Given the description of an element on the screen output the (x, y) to click on. 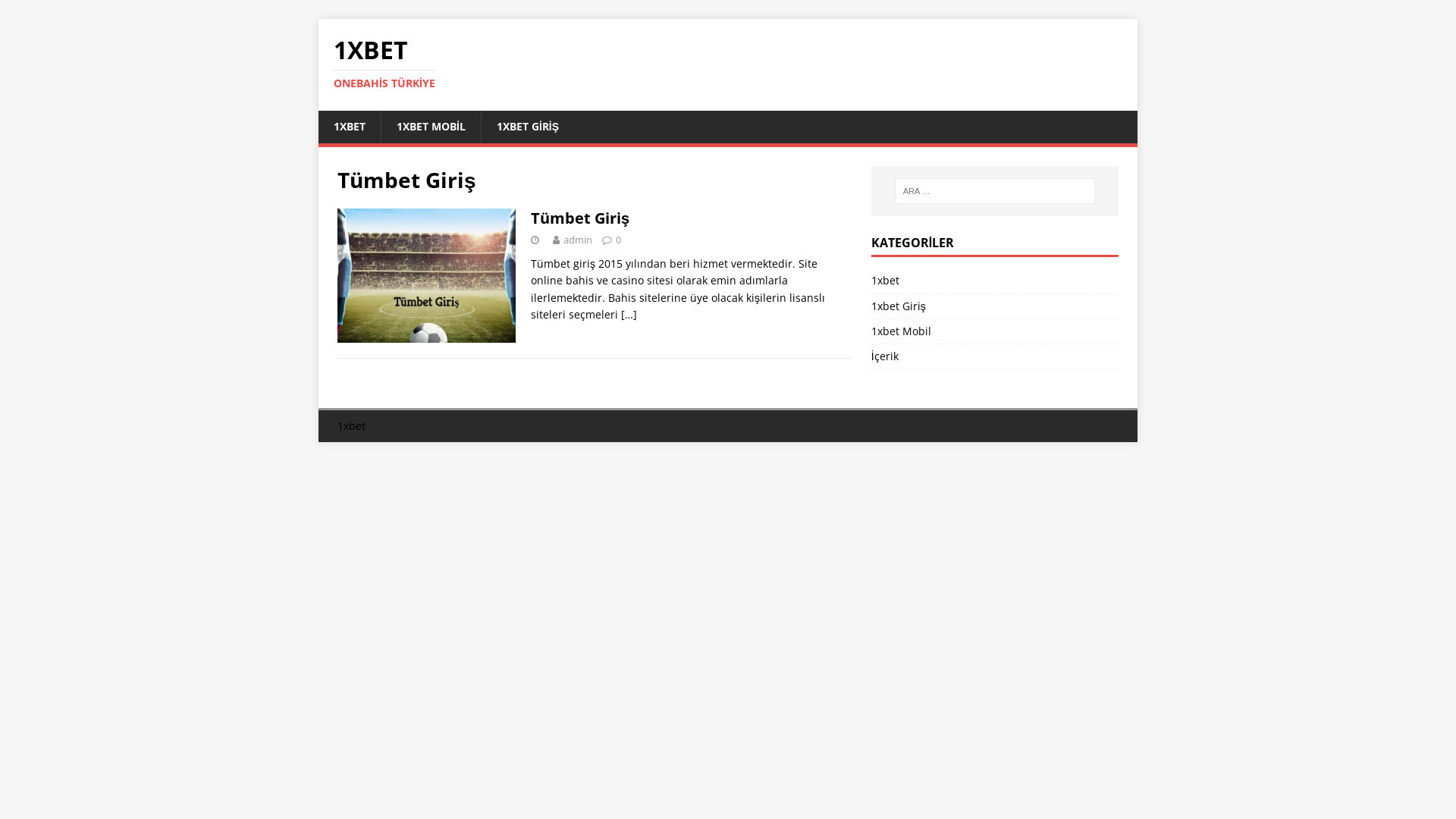
1xbet Element type: text (351, 425)
admin Element type: text (577, 239)
1XBET MOBIL Element type: text (430, 126)
1XBET Element type: text (349, 126)
1xbet Mobil Element type: text (994, 331)
1xbet Element type: text (994, 282)
Ara Element type: text (56, 11)
0 Element type: text (618, 239)
